Given the description of an element on the screen output the (x, y) to click on. 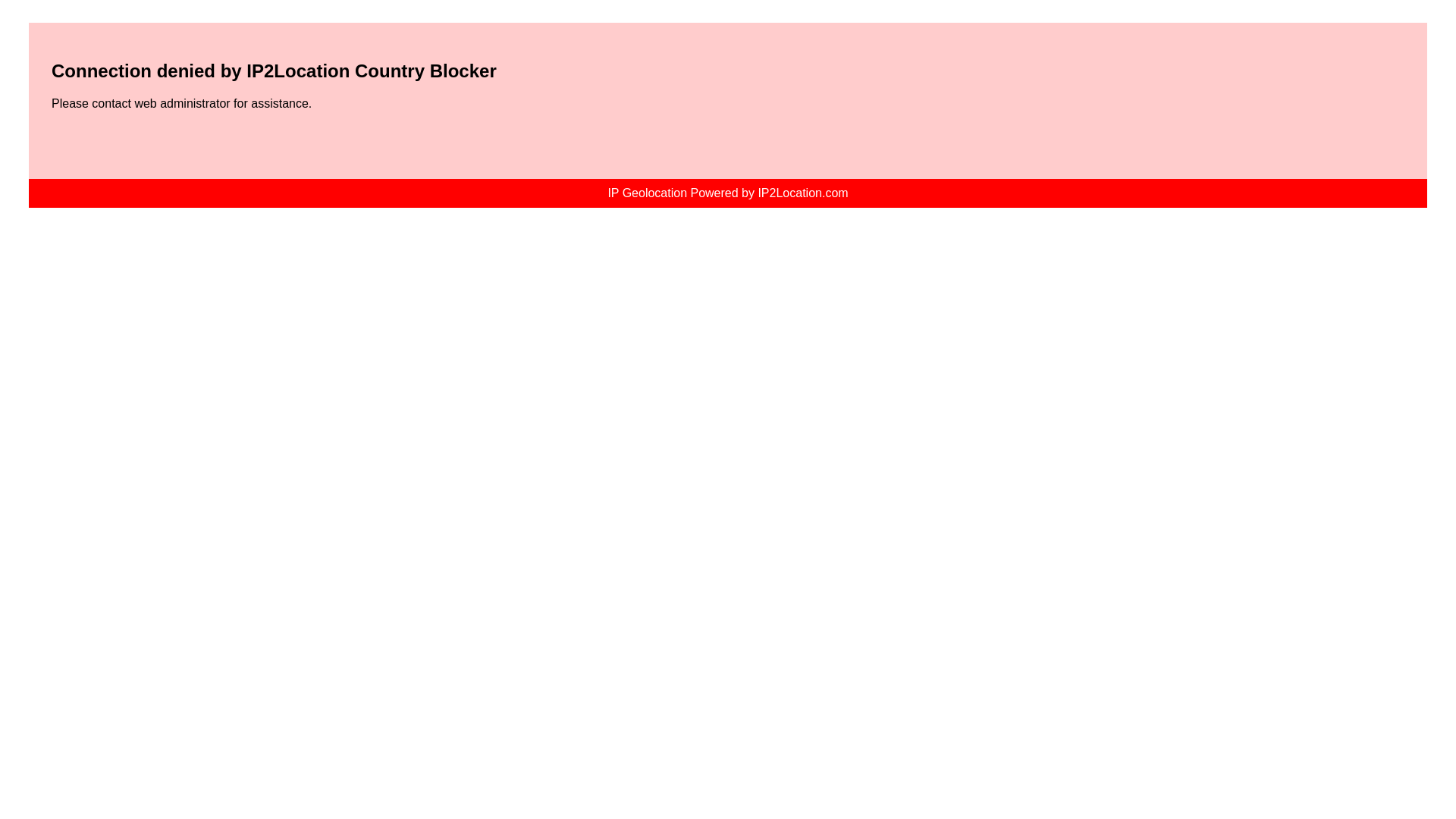
IP Geolocation Powered by IP2Location.com Element type: text (727, 192)
